Given the description of an element on the screen output the (x, y) to click on. 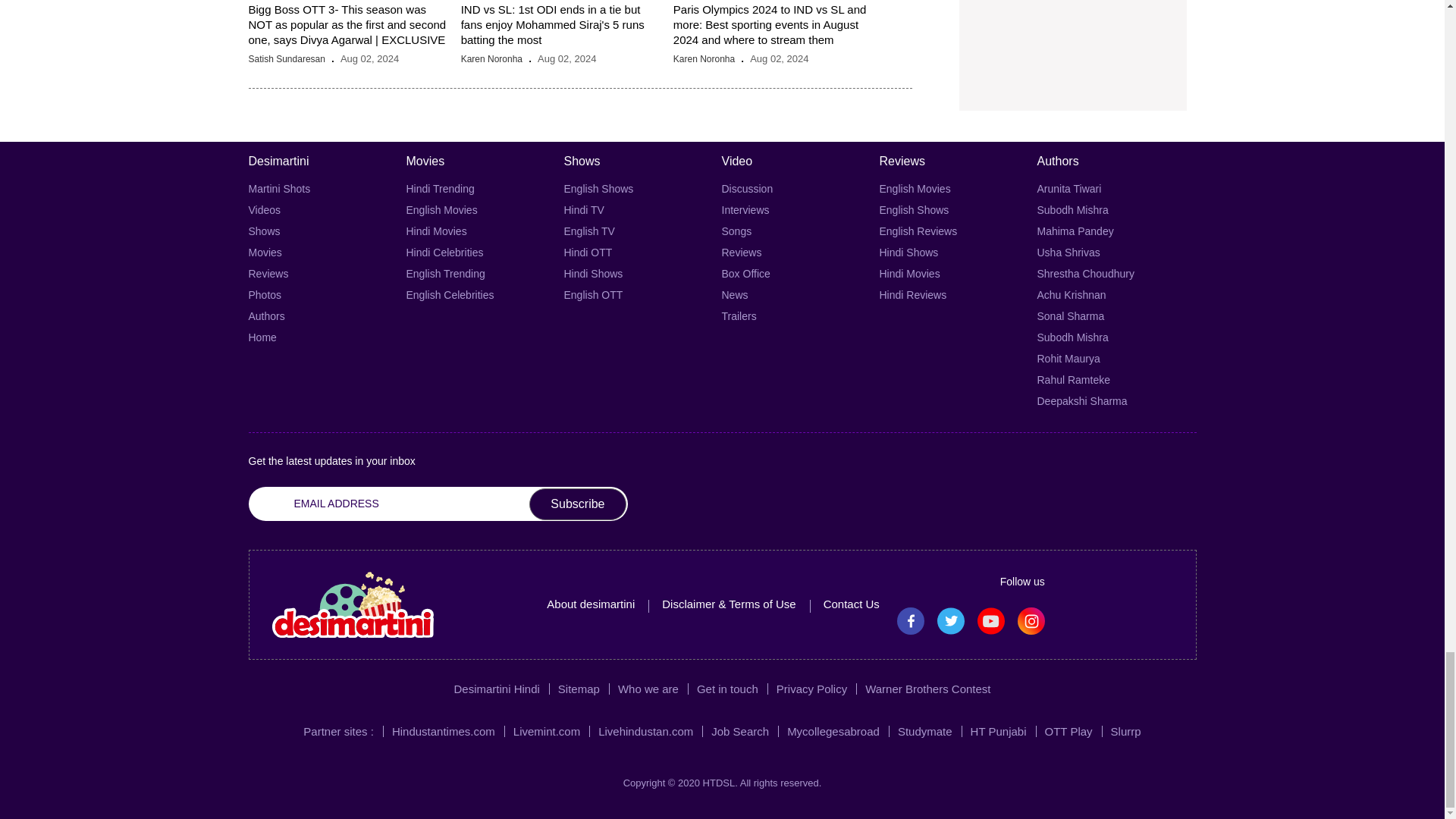
Desi martini (351, 604)
